Given the description of an element on the screen output the (x, y) to click on. 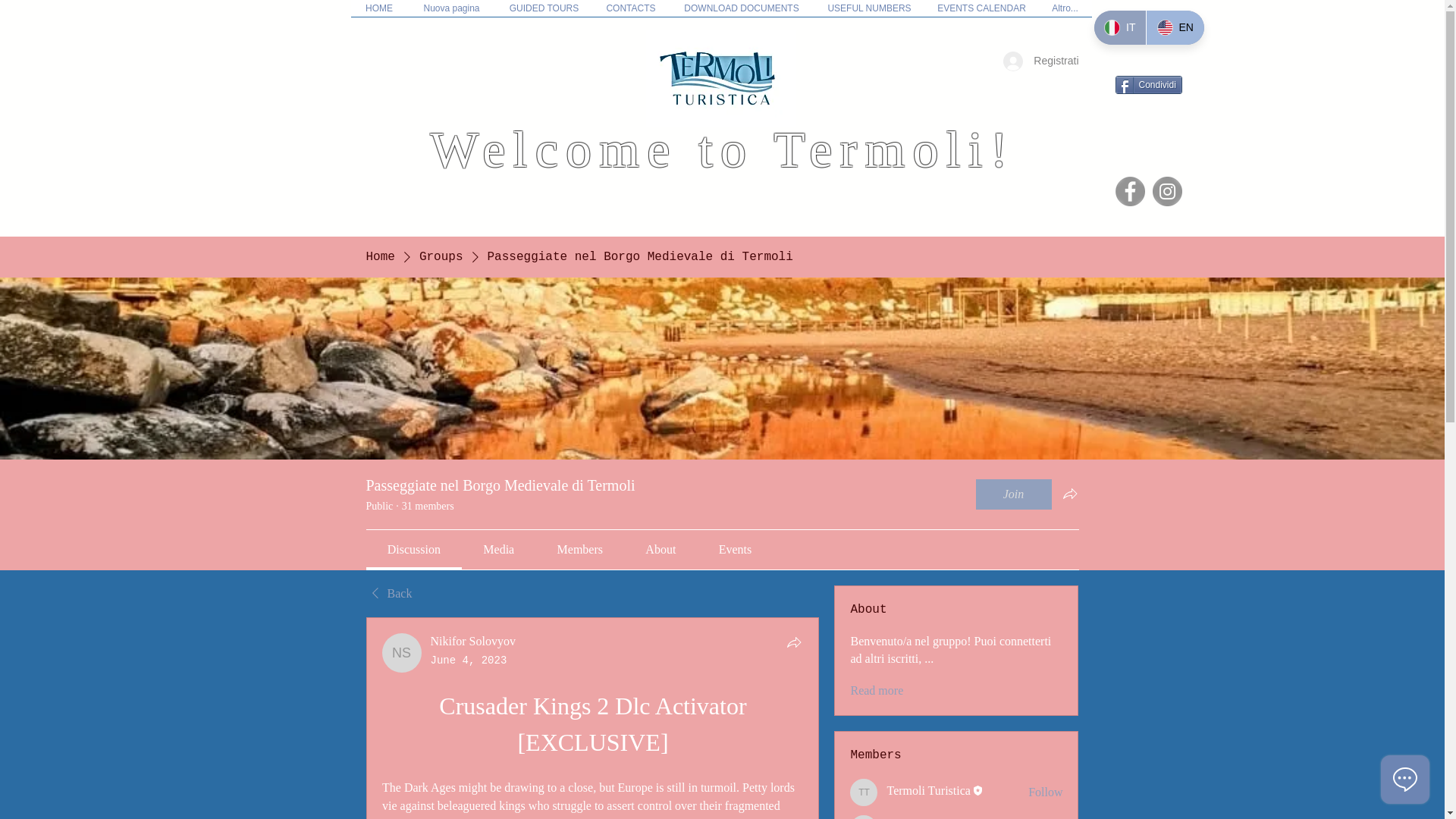
HOME (378, 13)
Nikifor Solovyov (401, 652)
Facebook Like (1147, 132)
Amelia Walker (863, 816)
Termoli Turistica (863, 791)
CONTACTS (630, 13)
Condividi (1147, 85)
Registrati (1040, 61)
Nuova pagina (451, 13)
USEFUL NUMBERS (868, 13)
GUIDED TOURS (544, 13)
EVENTS CALENDAR (981, 13)
DOWNLOAD DOCUMENTS (740, 13)
Wix Weather (12, 104)
